Given the description of an element on the screen output the (x, y) to click on. 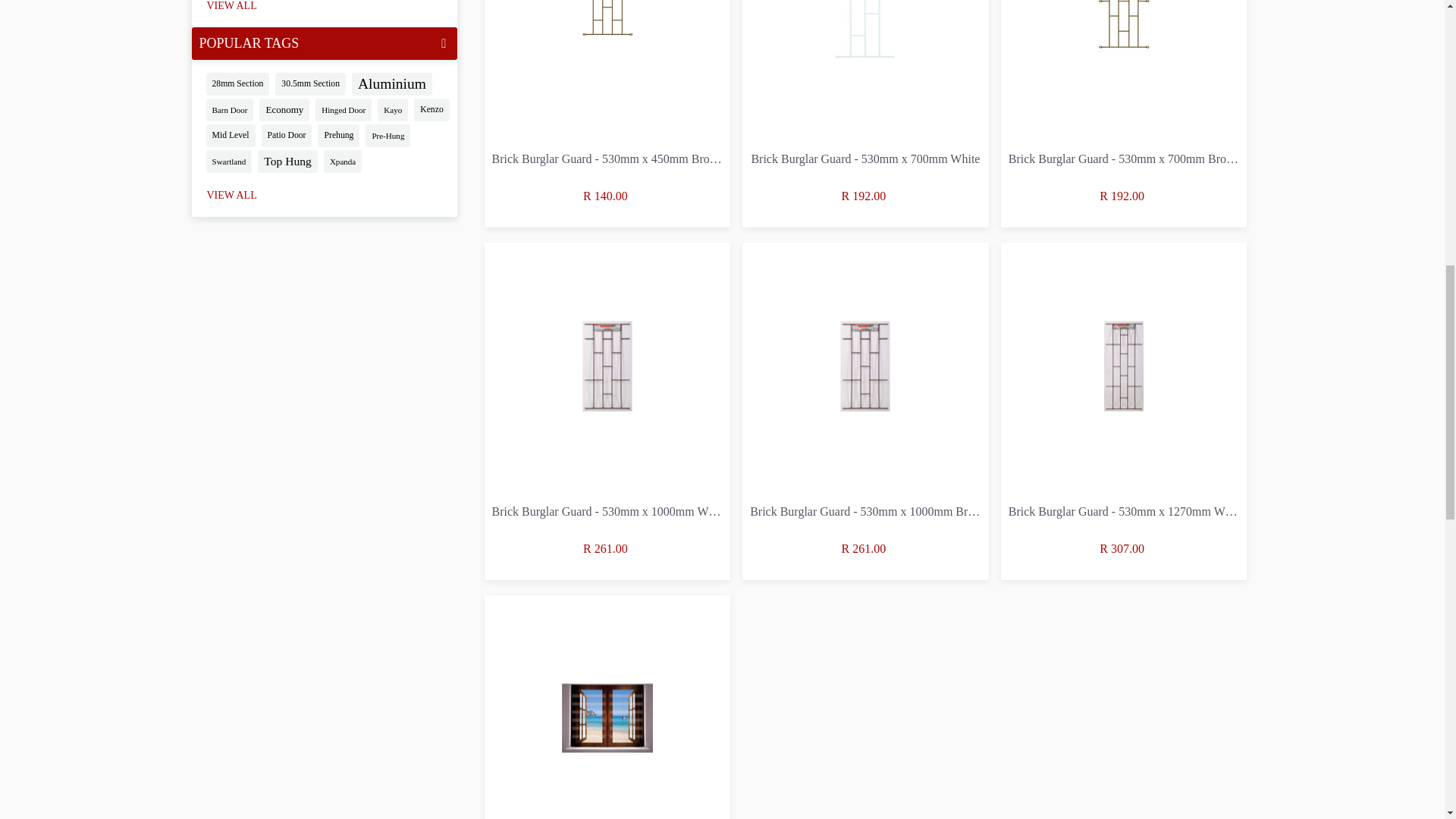
Show details for Brick Burglar Guard - 530mm x 450mm Bronze (606, 68)
Show details for Brick Burglar Guard - 530mm x 450mm Bronze (607, 29)
